Given the description of an element on the screen output the (x, y) to click on. 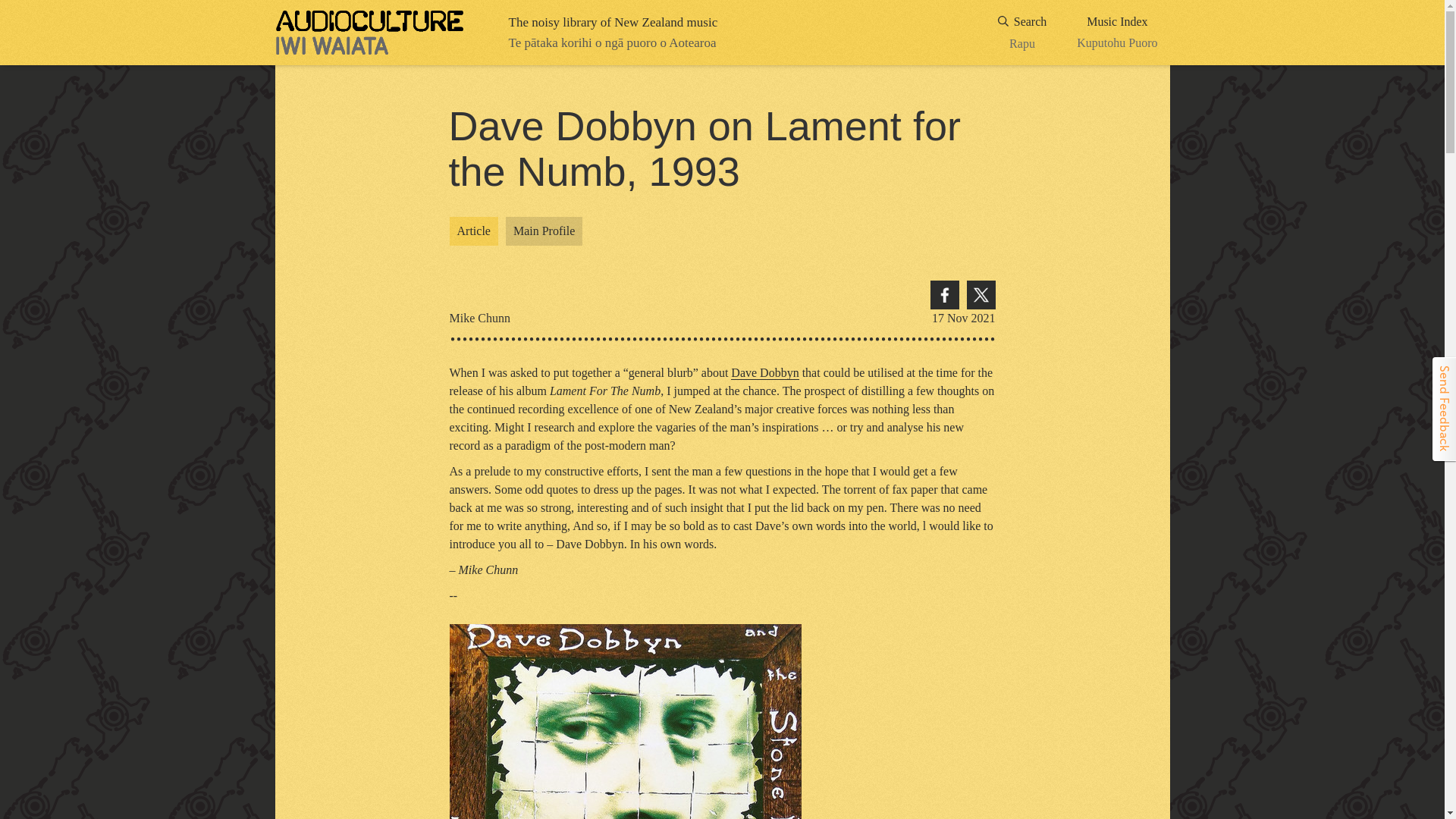
Twitter (1117, 32)
Facebook (980, 294)
Main Profile (944, 294)
Article (543, 231)
Dave Dobbyn (1022, 32)
AudioCulture (472, 231)
Dave Dobbyn (763, 373)
